Given the description of an element on the screen output the (x, y) to click on. 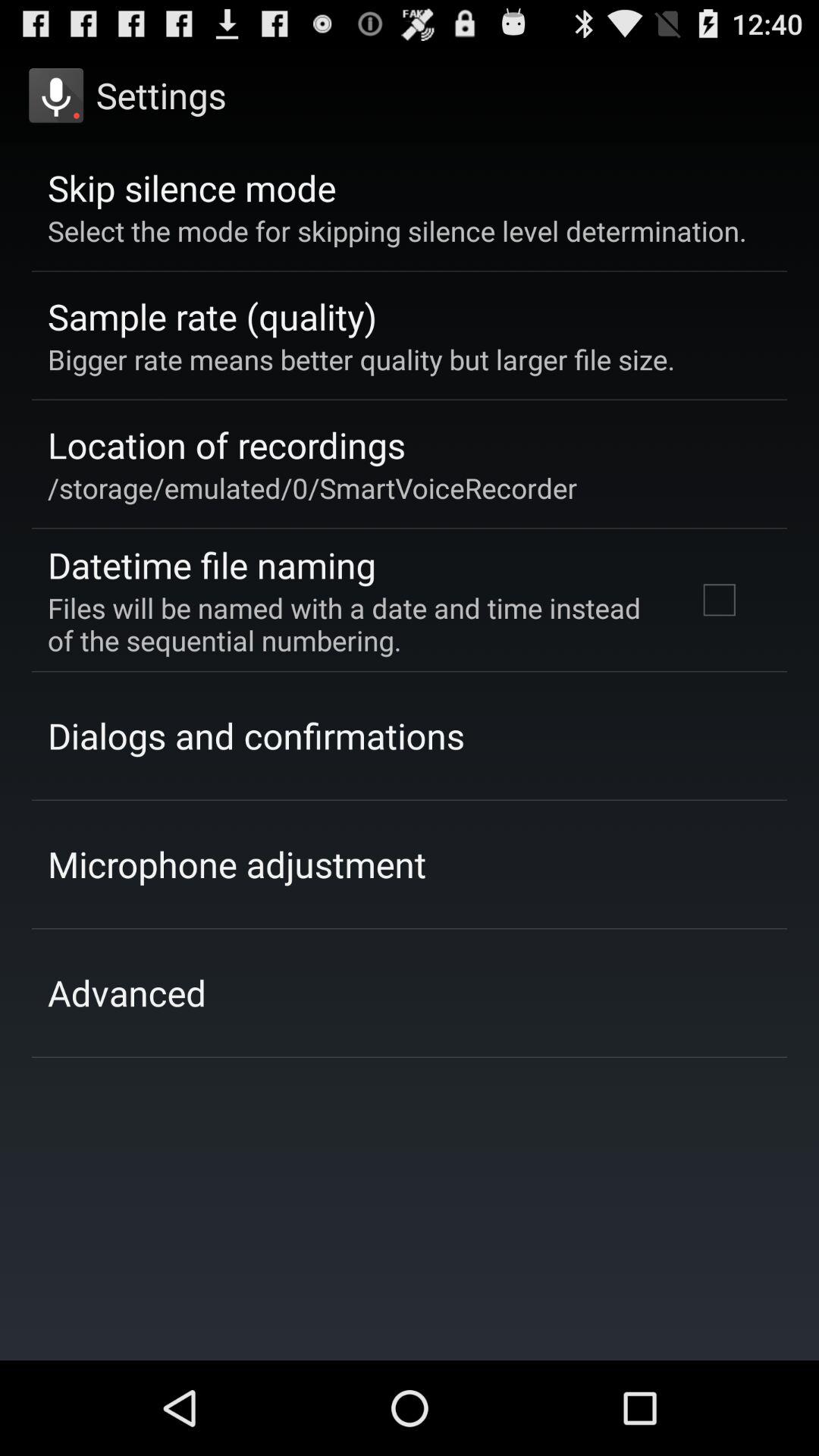
open item below the select the mode (719, 599)
